Given the description of an element on the screen output the (x, y) to click on. 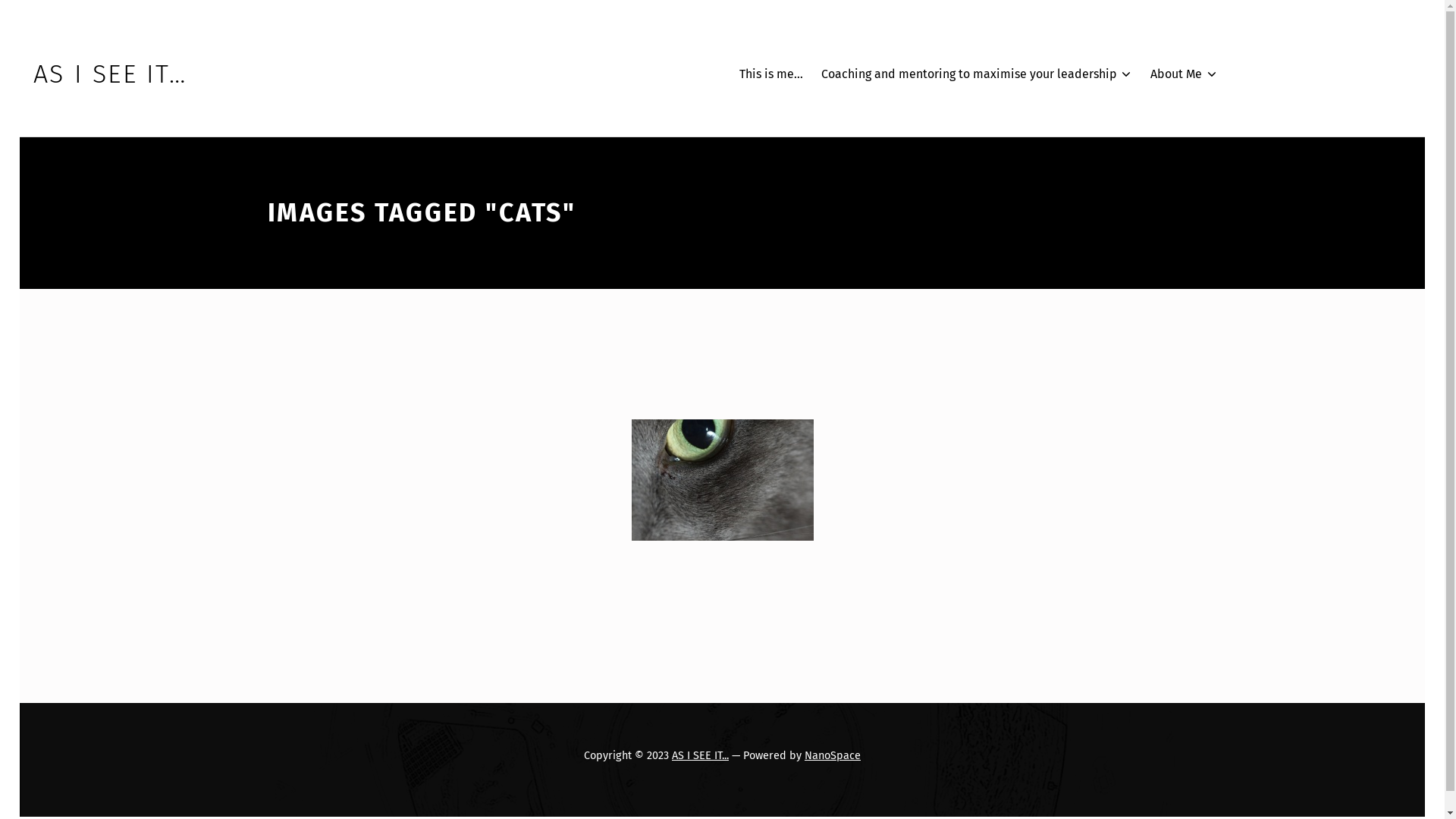
About Me Element type: text (1183, 74)
Skip back to main navigation Element type: text (266, 603)
Coaching and mentoring to maximise your leadership Element type: text (976, 74)
AS I SEE IT... Element type: text (699, 755)
Skip to main navigation Element type: text (18, 18)
NanoSpace Element type: text (832, 755)
